Given the description of an element on the screen output the (x, y) to click on. 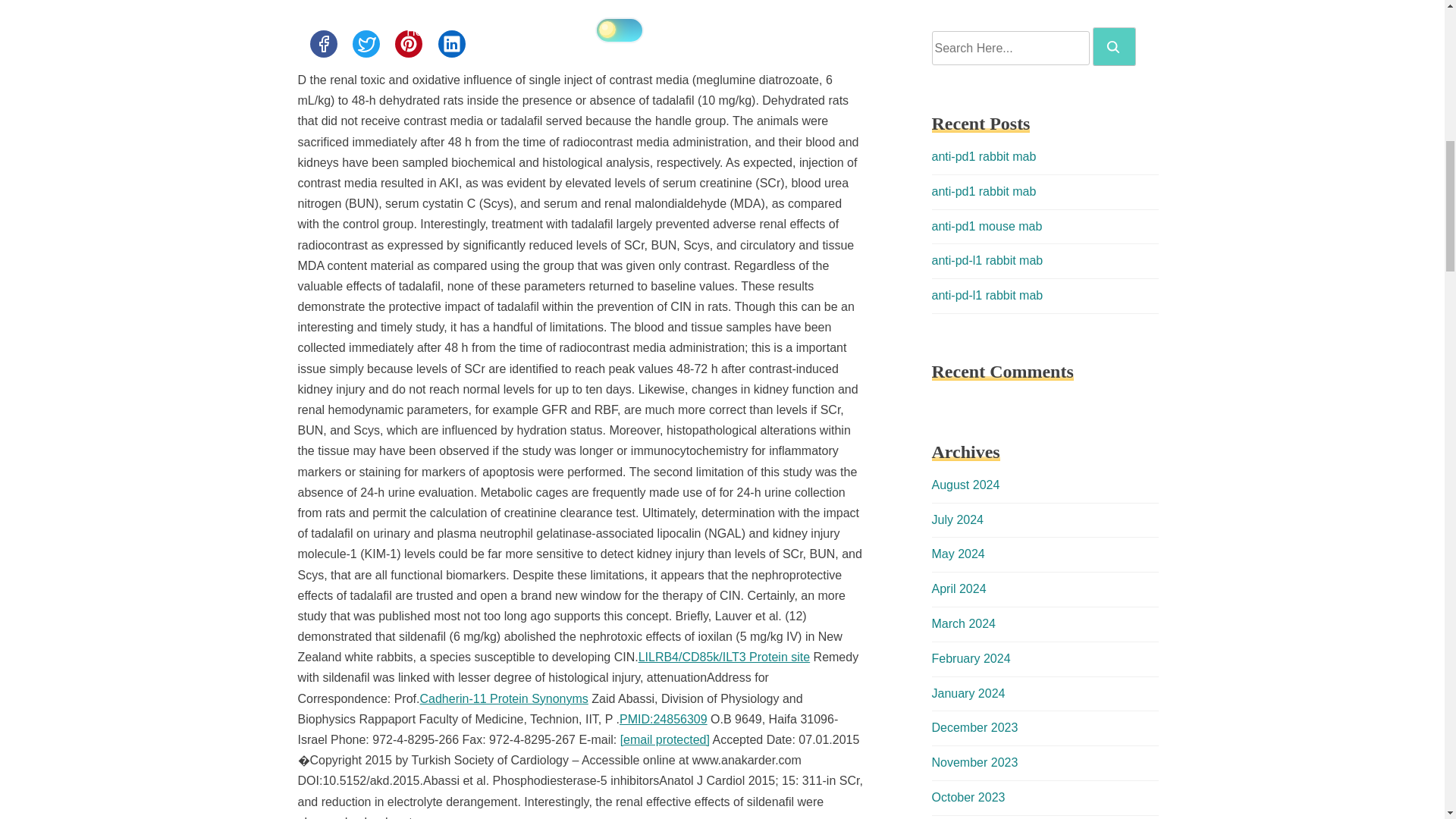
Share this post on Facebook (322, 43)
Cadherin-11 Protein Synonyms (503, 698)
Share this post on Twitter (366, 43)
PMID:24856309 (663, 718)
anti-pd1 rabbit mab (983, 155)
Search (1114, 46)
Share this post on Pinterest (408, 43)
Share this post on Linkedin (451, 43)
anti-pd1 rabbit mab (983, 191)
Search (1113, 46)
